Given the description of an element on the screen output the (x, y) to click on. 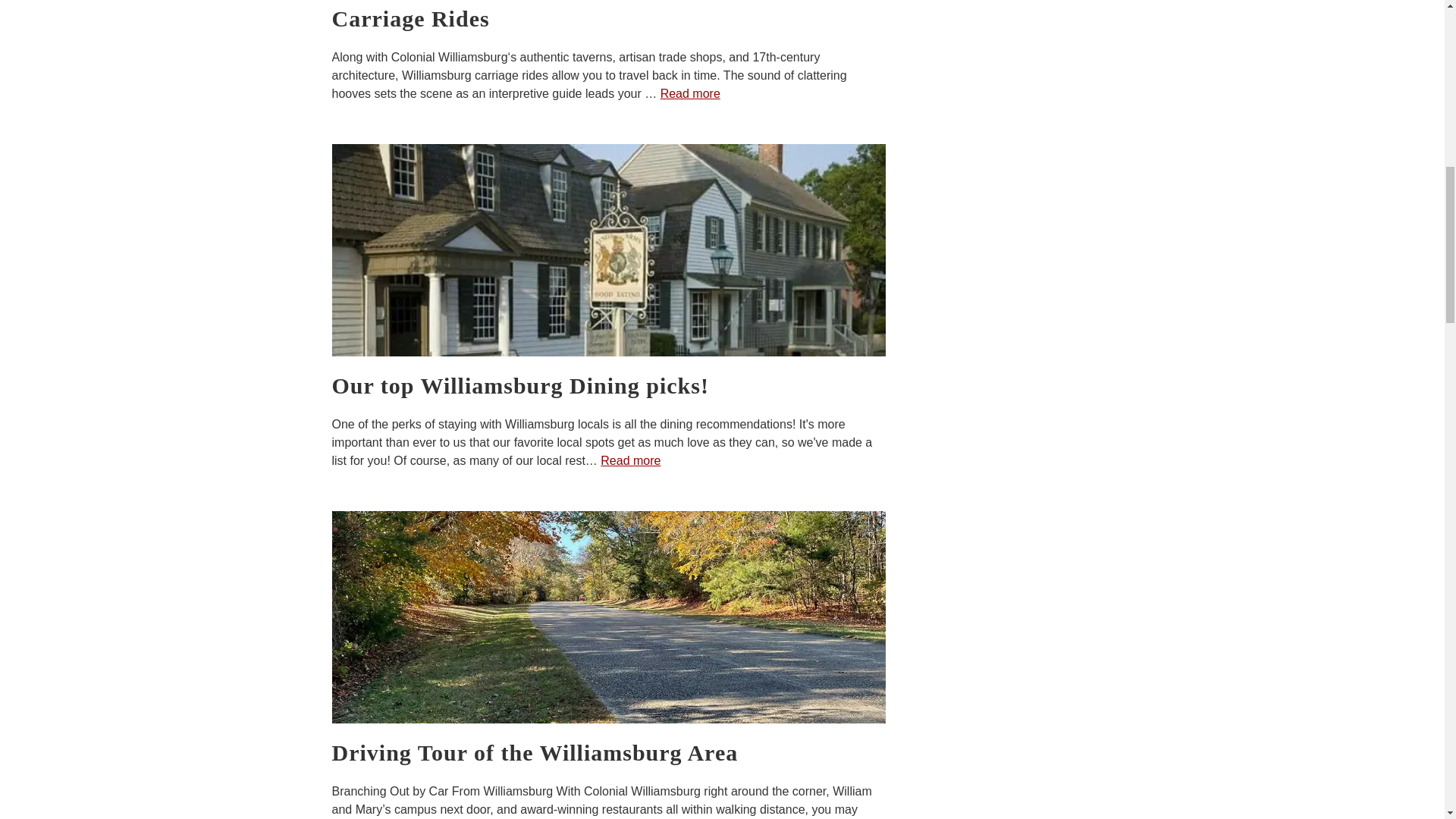
jamestown parkway (608, 617)
Read more (630, 460)
Driving Tour of the Williamsburg Area (608, 753)
Our top Williamsburg Dining picks! (608, 386)
places to eat (608, 250)
Read more (690, 92)
